Given the description of an element on the screen output the (x, y) to click on. 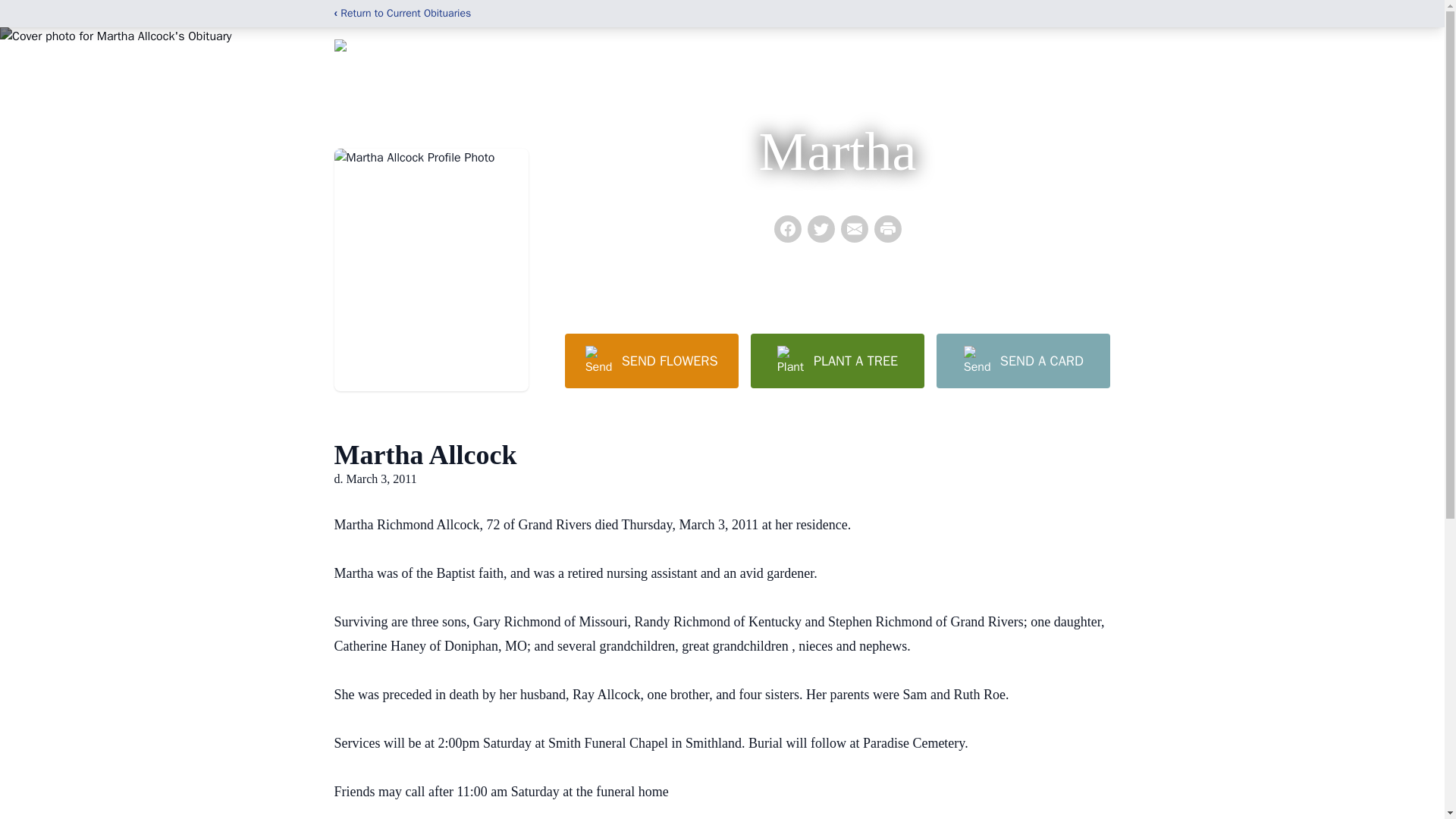
SEND A CARD (1022, 360)
SEND FLOWERS (651, 360)
PLANT A TREE (837, 360)
